Given the description of an element on the screen output the (x, y) to click on. 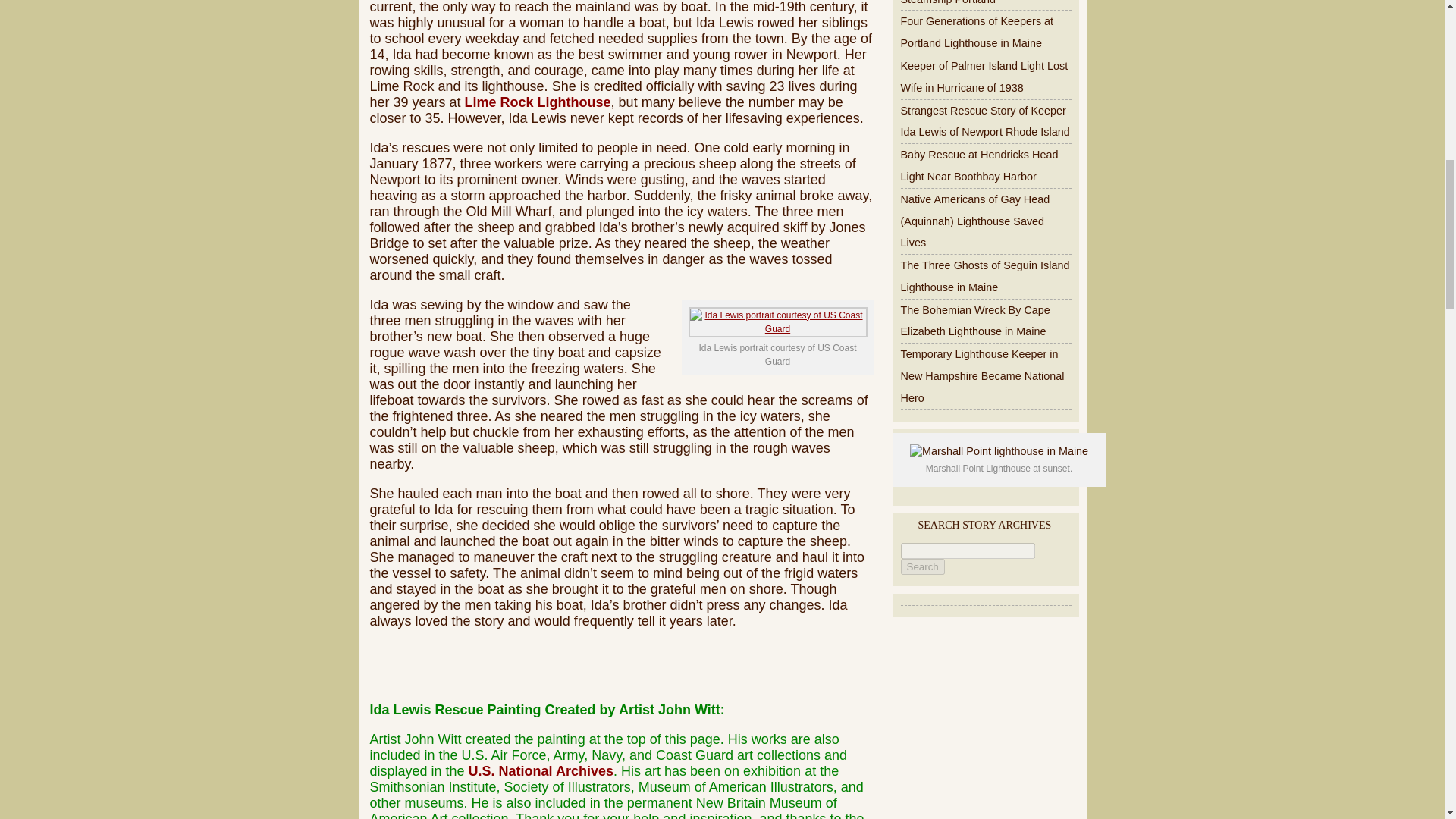
Lime Rock Lighthouse (537, 102)
Search (922, 566)
U.S. National Archives (540, 770)
Marshall Point lighthouse in Maine (998, 450)
